Given the description of an element on the screen output the (x, y) to click on. 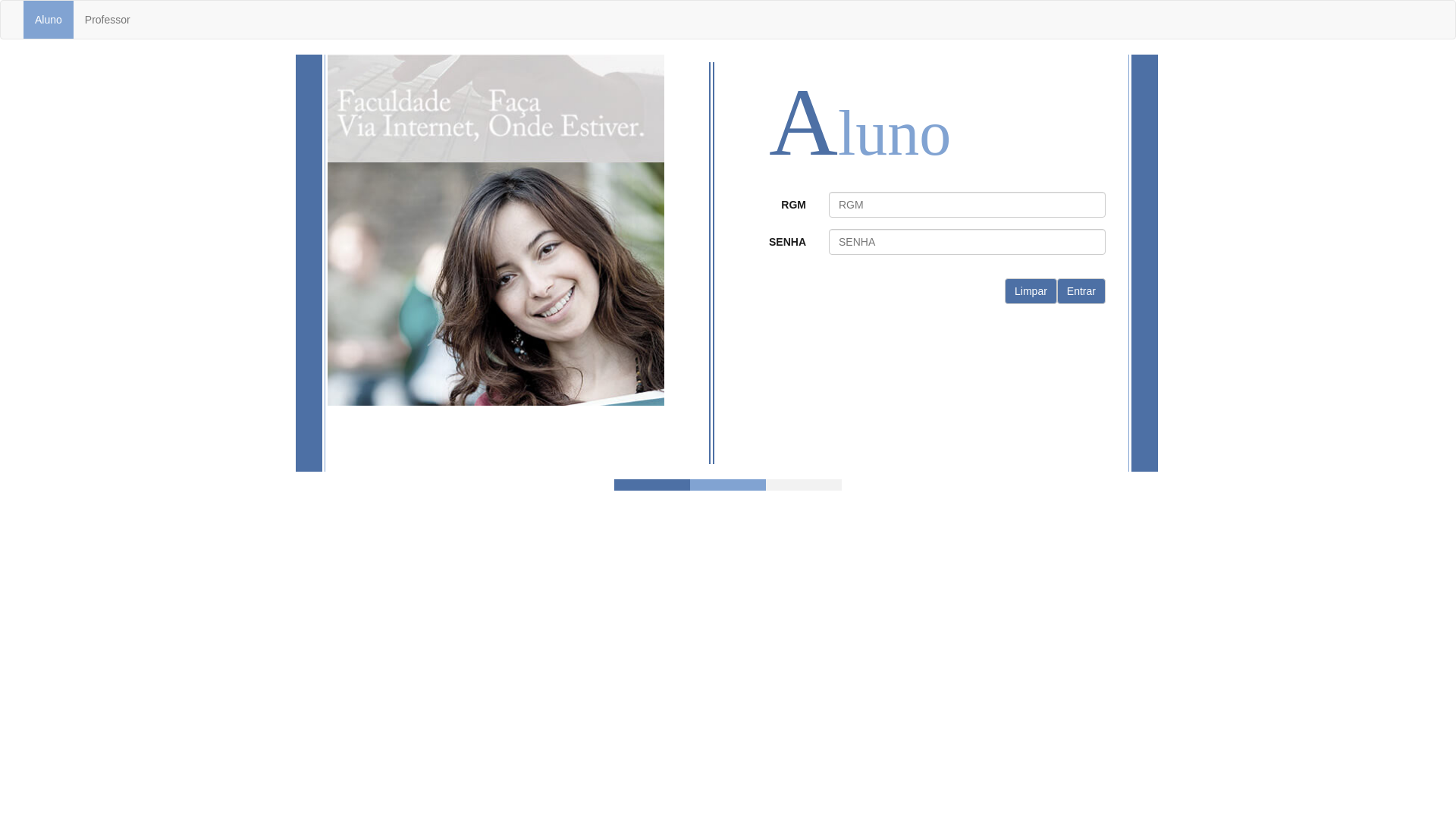
Professor Element type: text (107, 19)
Entrar Element type: text (1081, 291)
Limpar Element type: text (1030, 291)
Aluno Element type: text (48, 19)
